Given the description of an element on the screen output the (x, y) to click on. 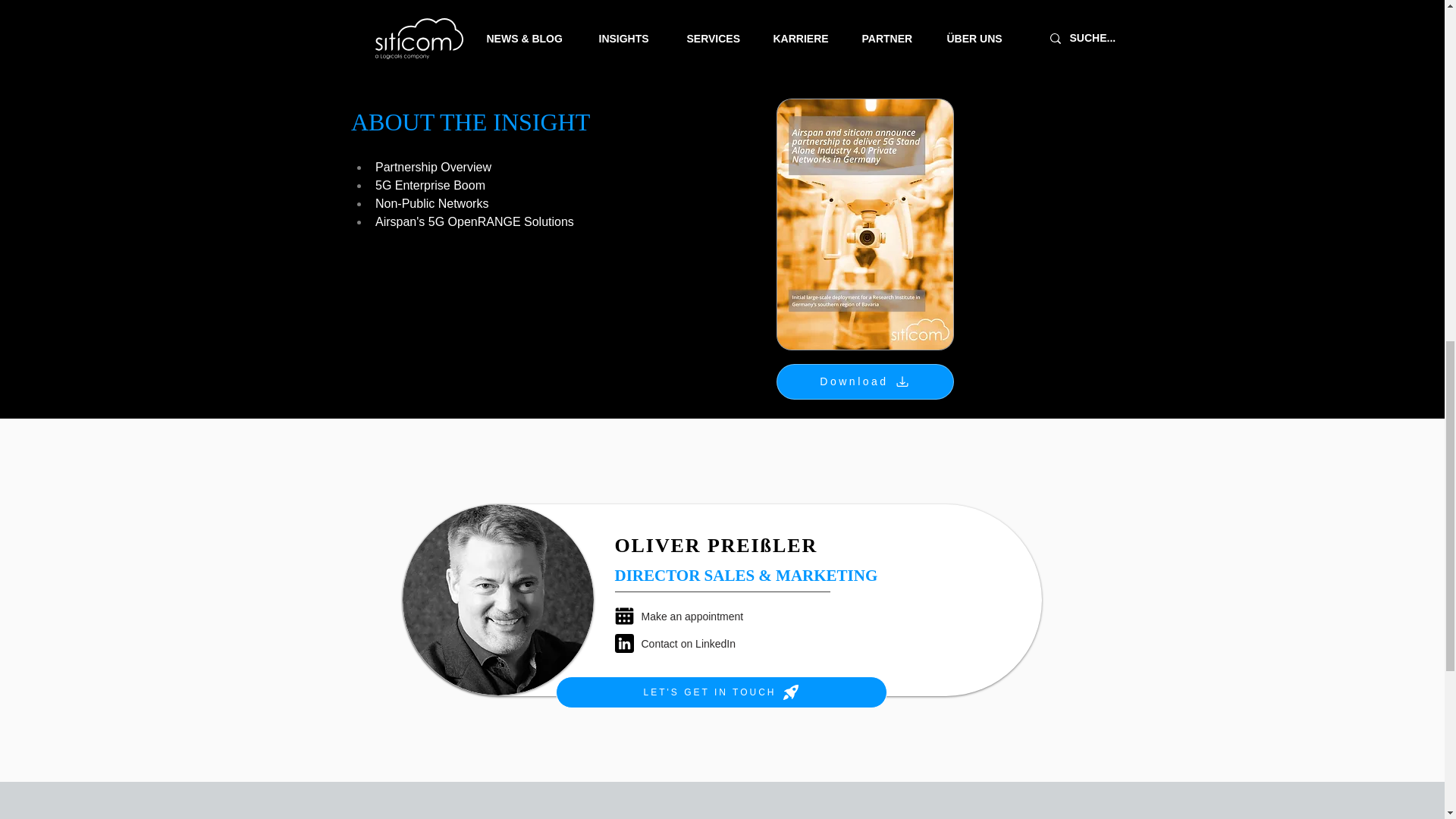
LET'S GET IN TOUCH (720, 692)
Make an appointment (702, 616)
Download (864, 381)
Airspan (568, 21)
Contact on LinkedIn (702, 643)
